Given the description of an element on the screen output the (x, y) to click on. 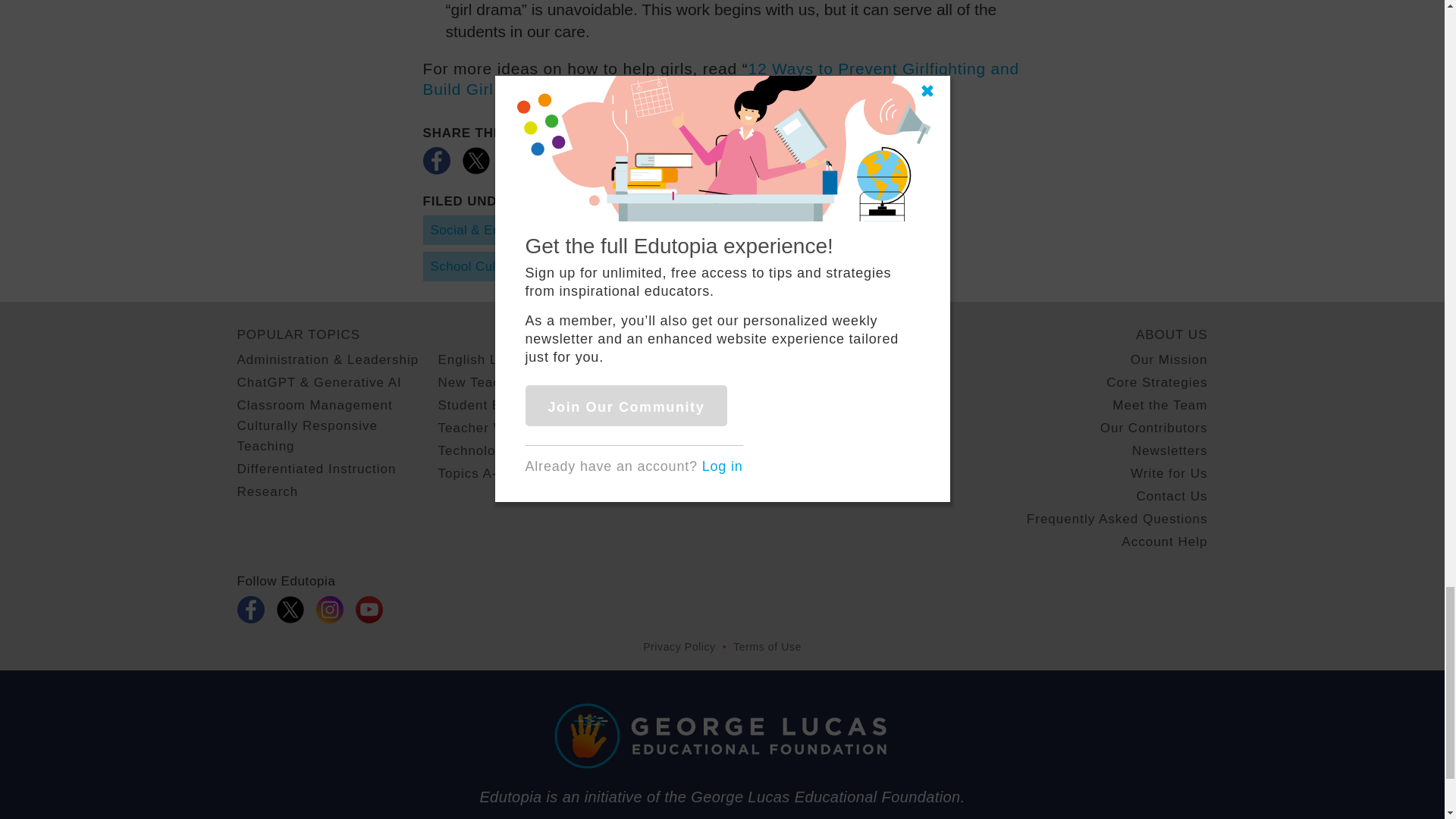
Education Equity (848, 229)
School Culture (475, 266)
Bullying Prevention (717, 229)
12 Ways to Prevent Girlfighting and Build Girl Allies (721, 78)
